Given the description of an element on the screen output the (x, y) to click on. 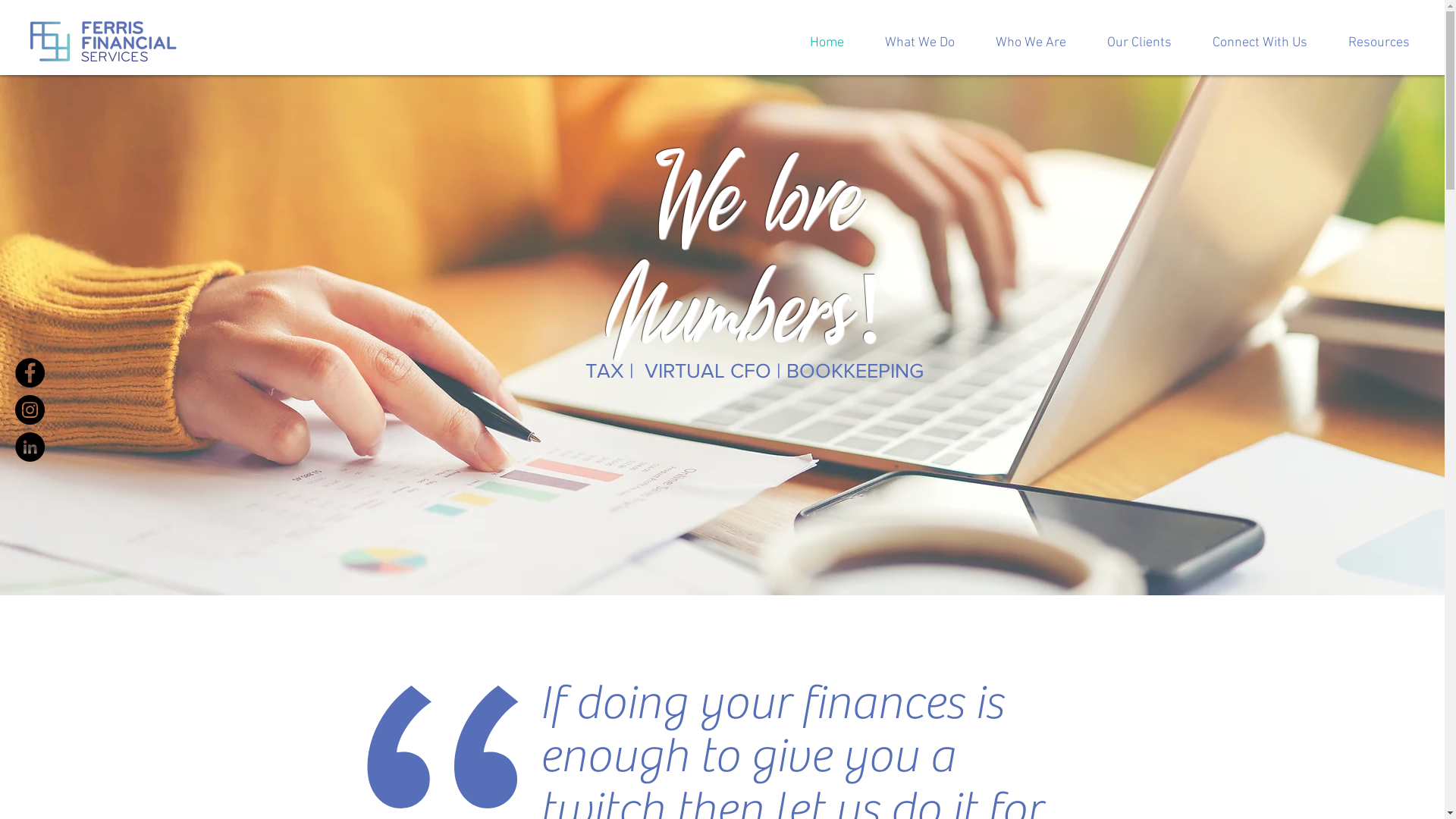
Who We Are Element type: text (1030, 42)
Resources Element type: text (1378, 42)
Our Clients Element type: text (1139, 42)
Home Element type: text (826, 42)
Connect With Us Element type: text (1259, 42)
What We Do Element type: text (919, 42)
